Given the description of an element on the screen output the (x, y) to click on. 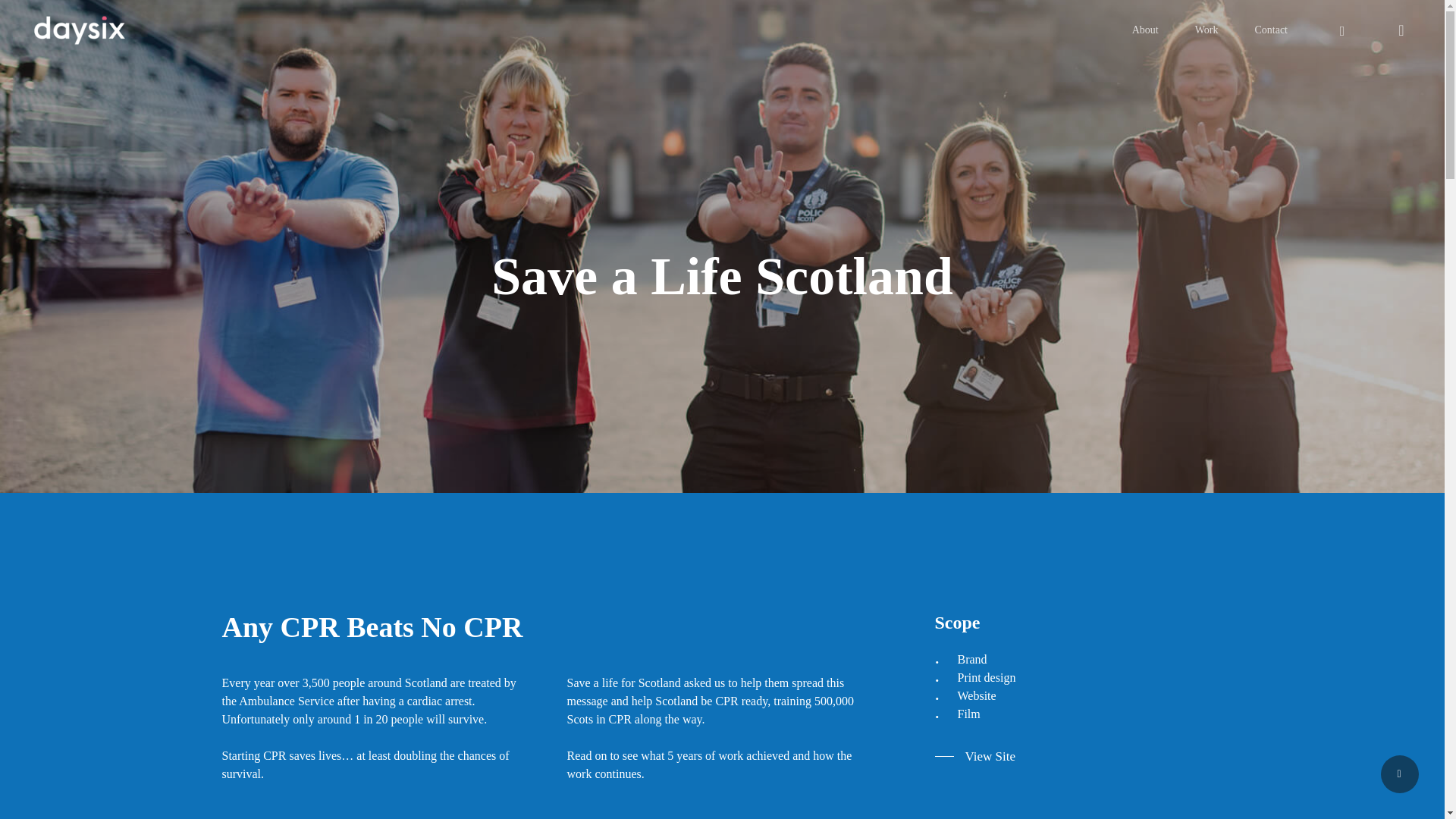
View Site (974, 756)
instagram (1341, 30)
Contact (1270, 30)
About (1145, 30)
Work (1206, 30)
search (1400, 30)
